Given the description of an element on the screen output the (x, y) to click on. 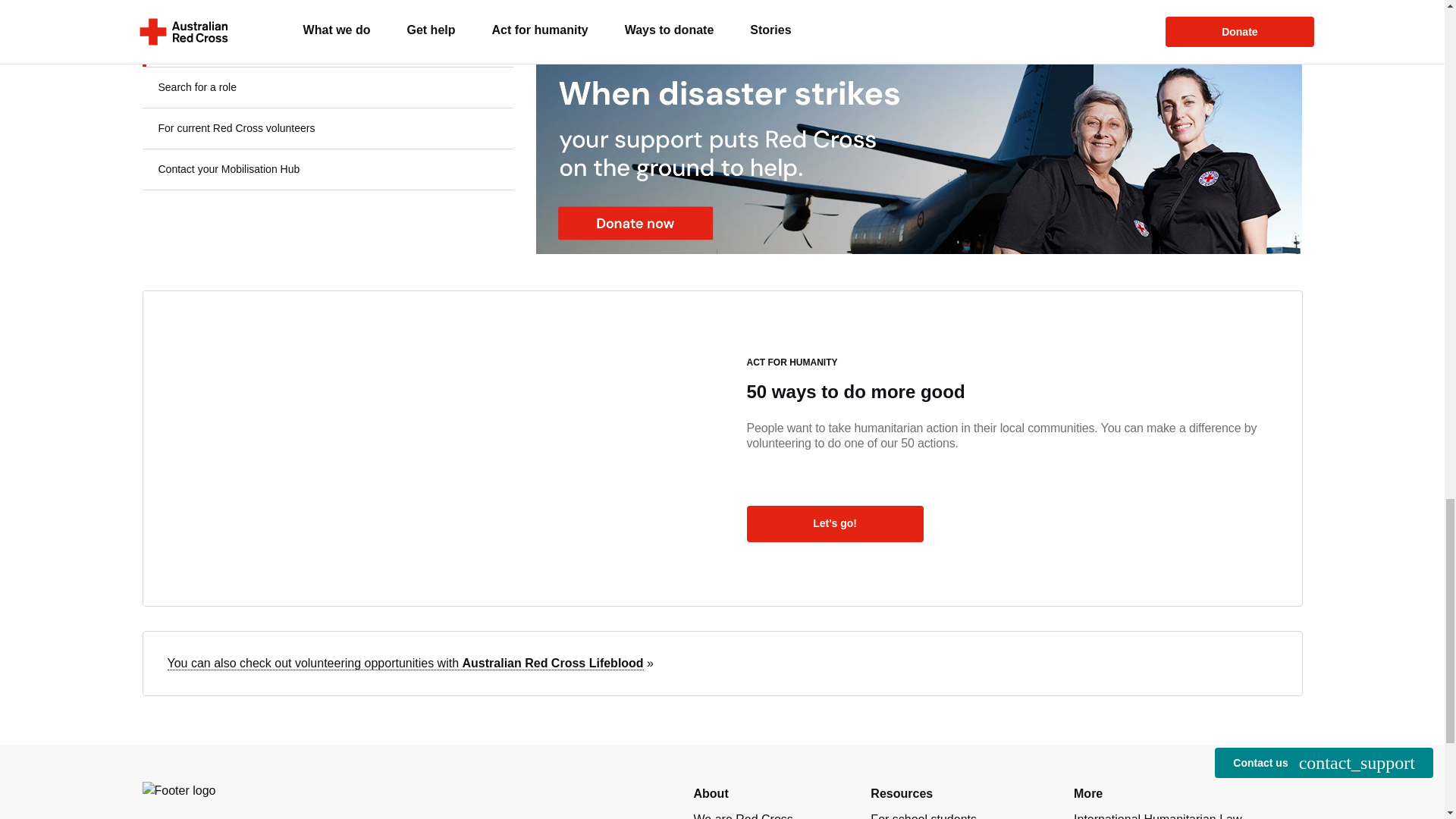
We are Red Cross (742, 816)
For school students (923, 816)
Lifeblood volunteering (405, 663)
Resources (901, 793)
About (710, 793)
